Given the description of an element on the screen output the (x, y) to click on. 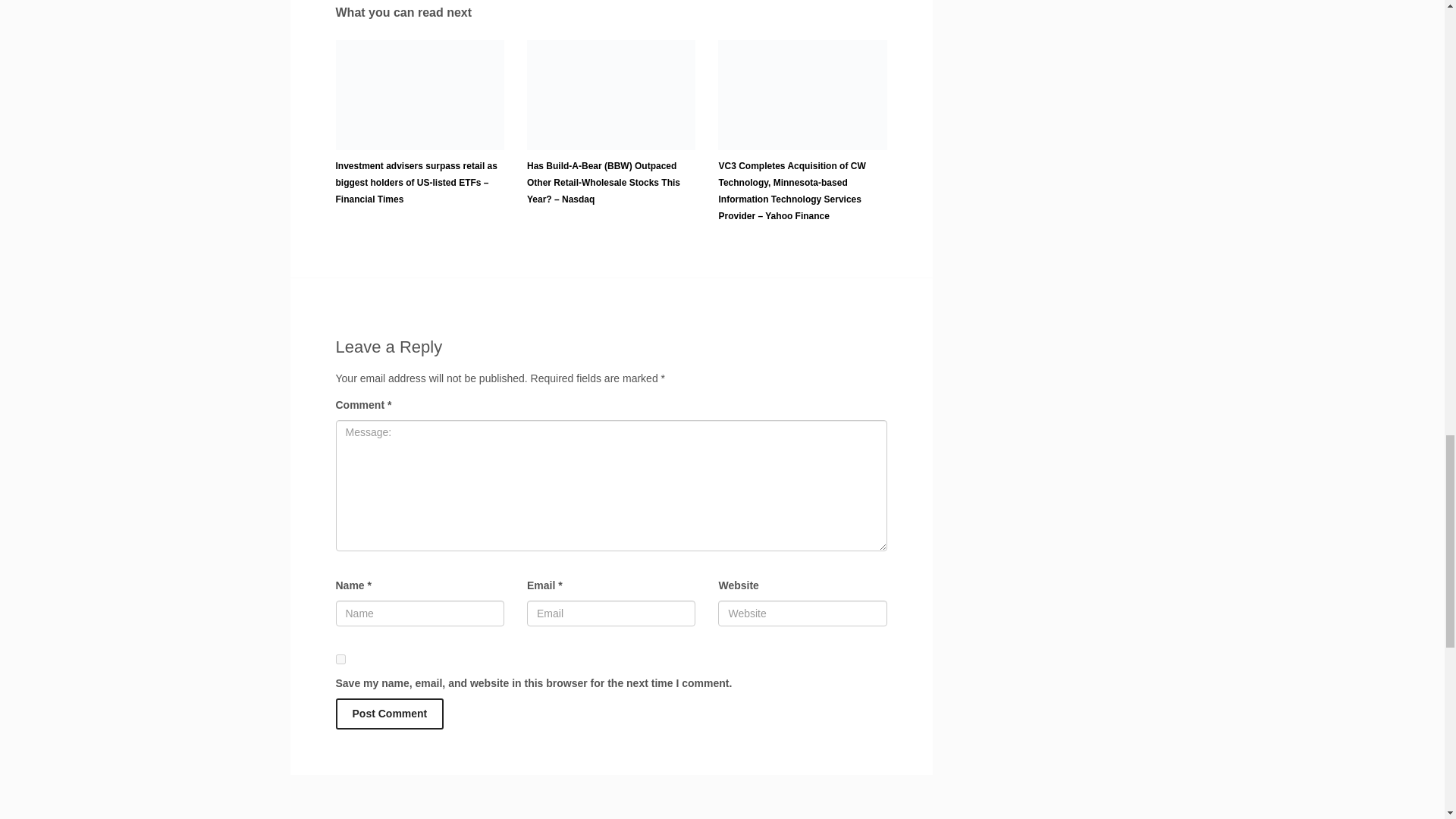
yes (339, 659)
Post Comment (389, 713)
